Given the description of an element on the screen output the (x, y) to click on. 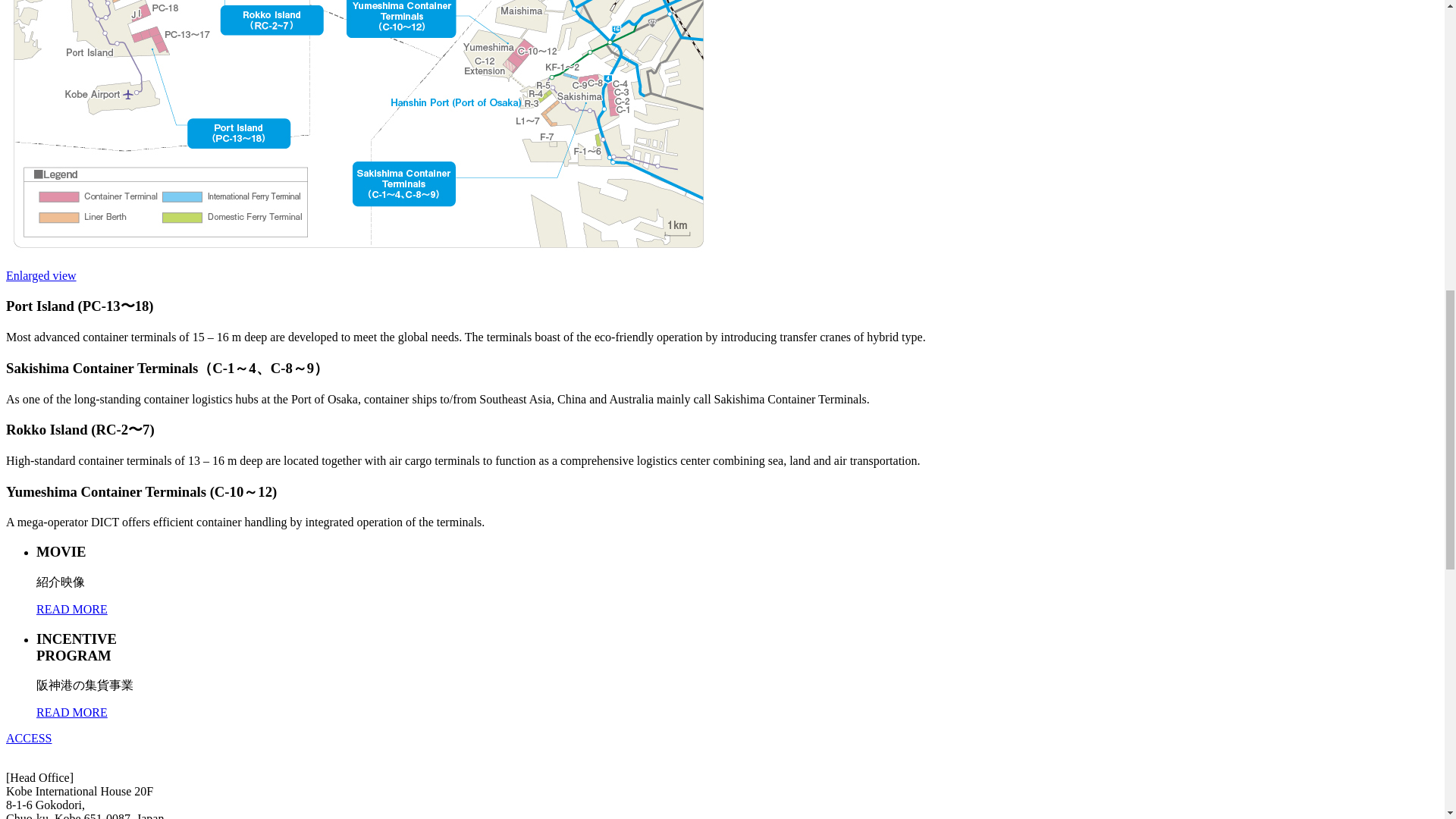
READ MORE (71, 712)
ACCESS (27, 738)
Enlarged view (41, 275)
READ MORE (71, 608)
